Given the description of an element on the screen output the (x, y) to click on. 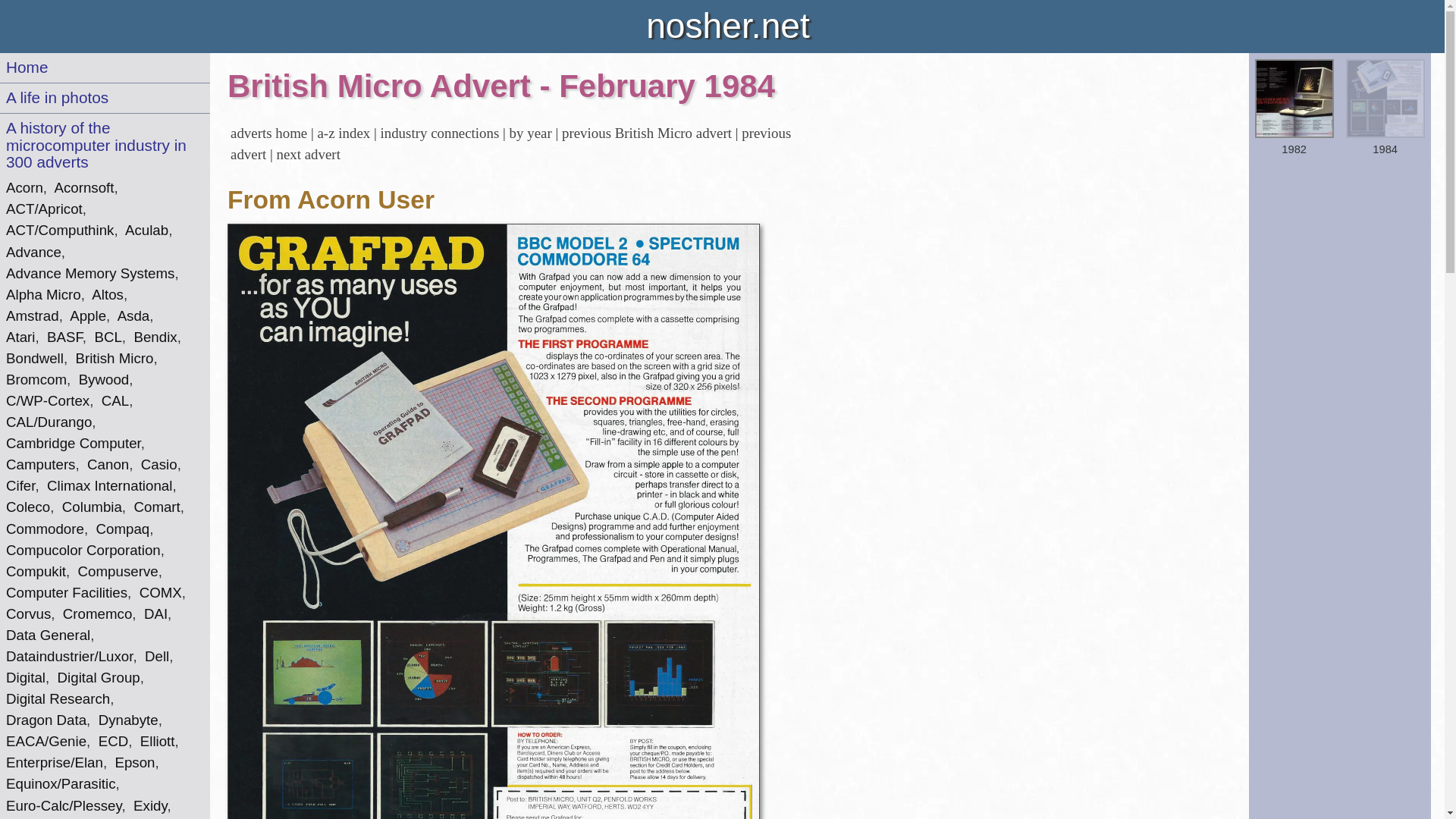
next advert (307, 154)
Advance Memory Systems (89, 273)
A life in photos (56, 97)
Aculab (146, 229)
by year (530, 132)
a-z index (343, 132)
Alpha Micro (43, 294)
A history of the microcomputer industry in 300 adverts (95, 144)
Home (26, 67)
Altos (107, 294)
Amstrad (32, 315)
Advance (33, 252)
previous advert (510, 143)
industry connections (439, 132)
adverts home (268, 132)
